Given the description of an element on the screen output the (x, y) to click on. 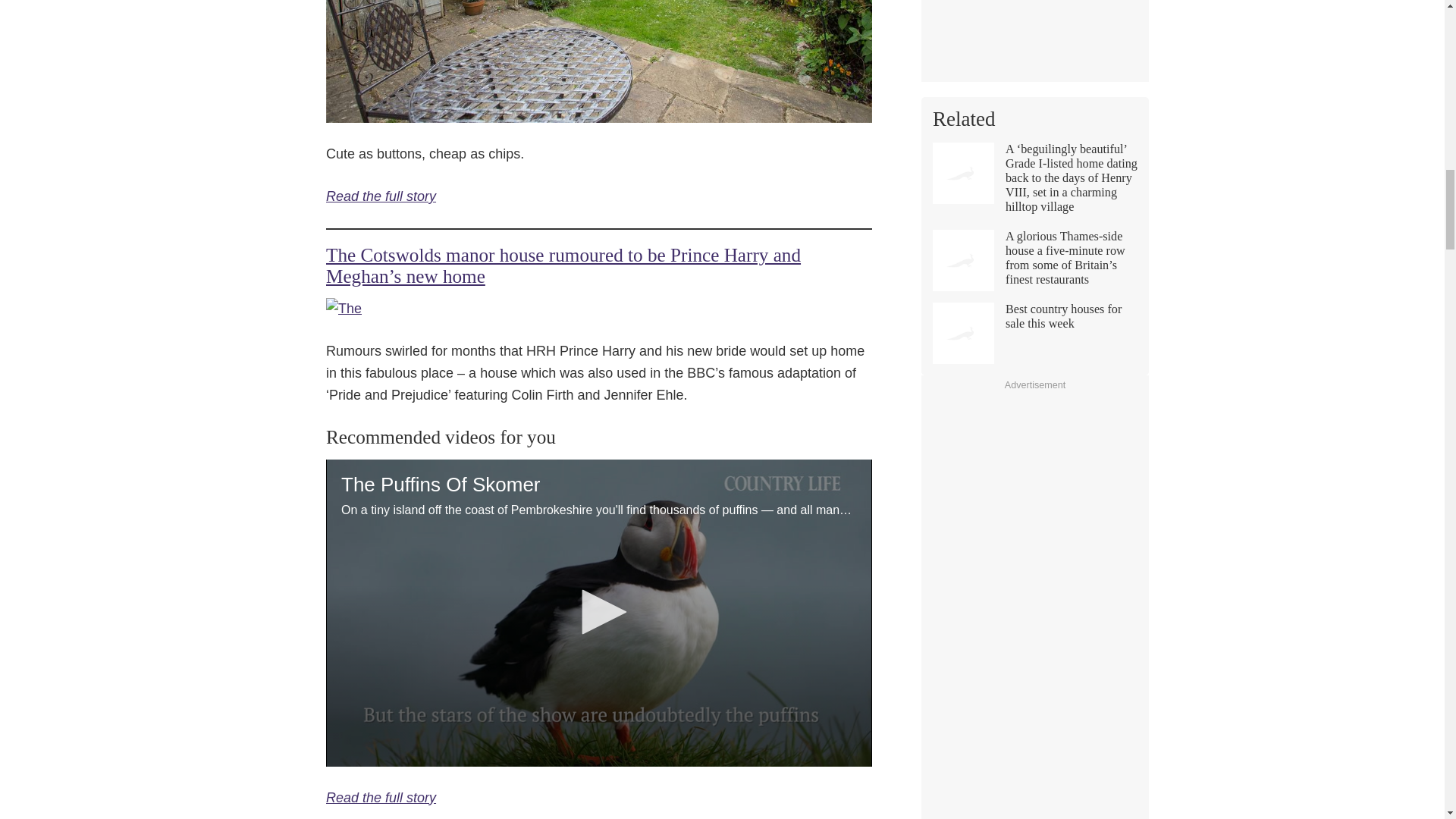
Best country houses for sale this week (1035, 332)
